Given the description of an element on the screen output the (x, y) to click on. 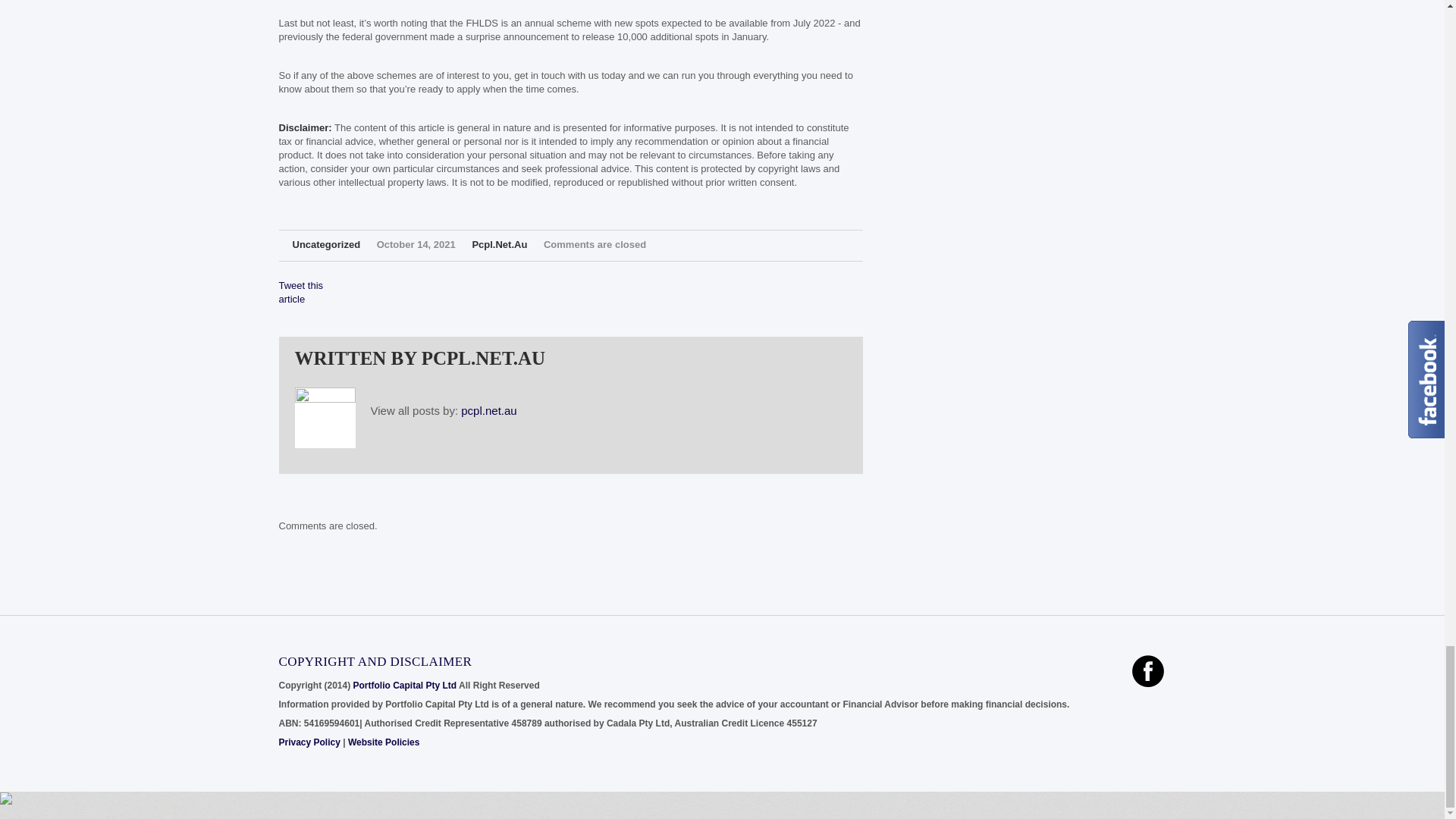
Posts by pcpl.net.au (499, 244)
Posts by pcpl.net.au (483, 358)
Uncategorized (326, 244)
Tweet this article (301, 292)
Pcpl.Net.Au (499, 244)
Posts by pcpl.net.au (488, 410)
